Given the description of an element on the screen output the (x, y) to click on. 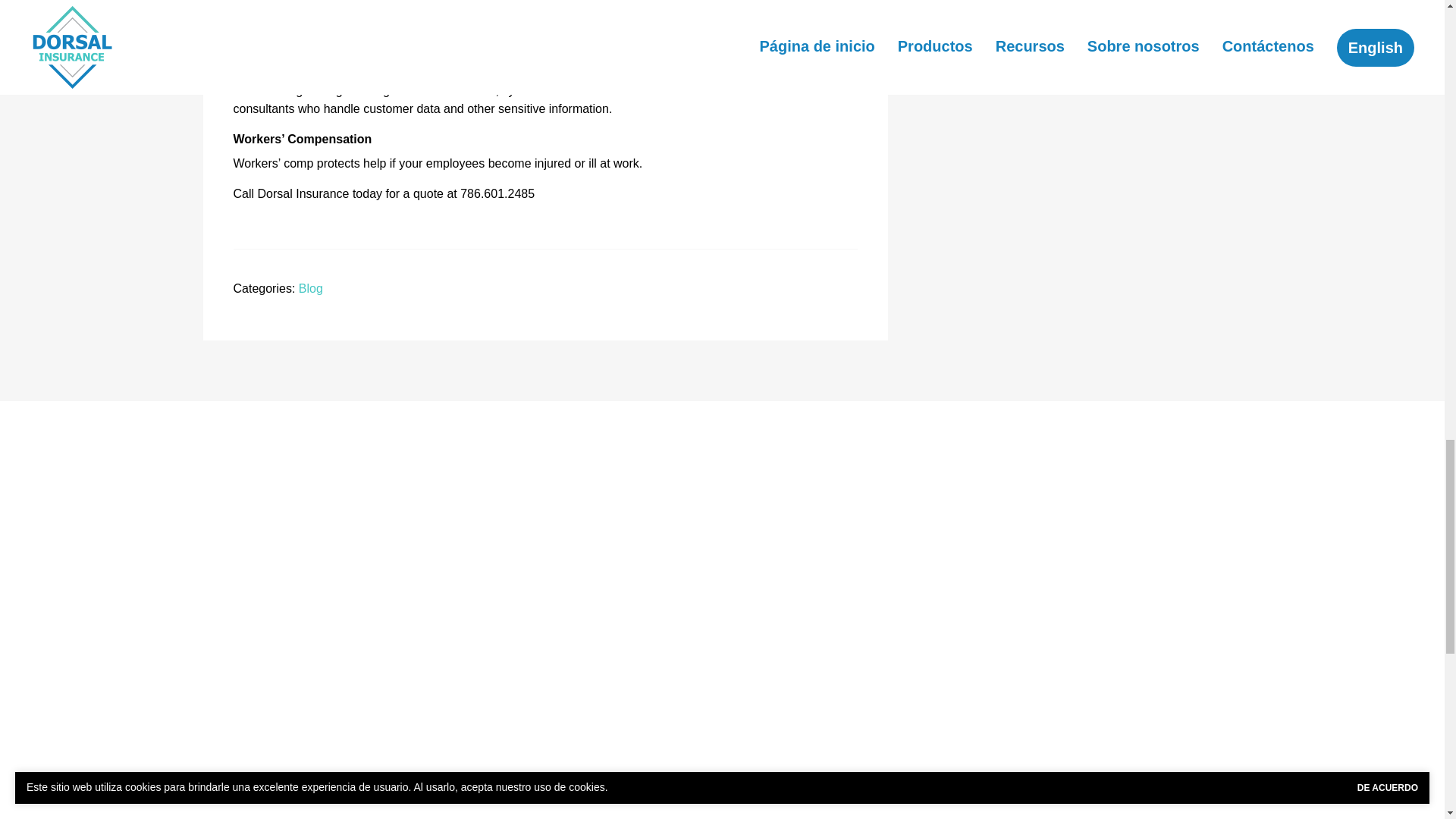
Blog (310, 287)
